Given the description of an element on the screen output the (x, y) to click on. 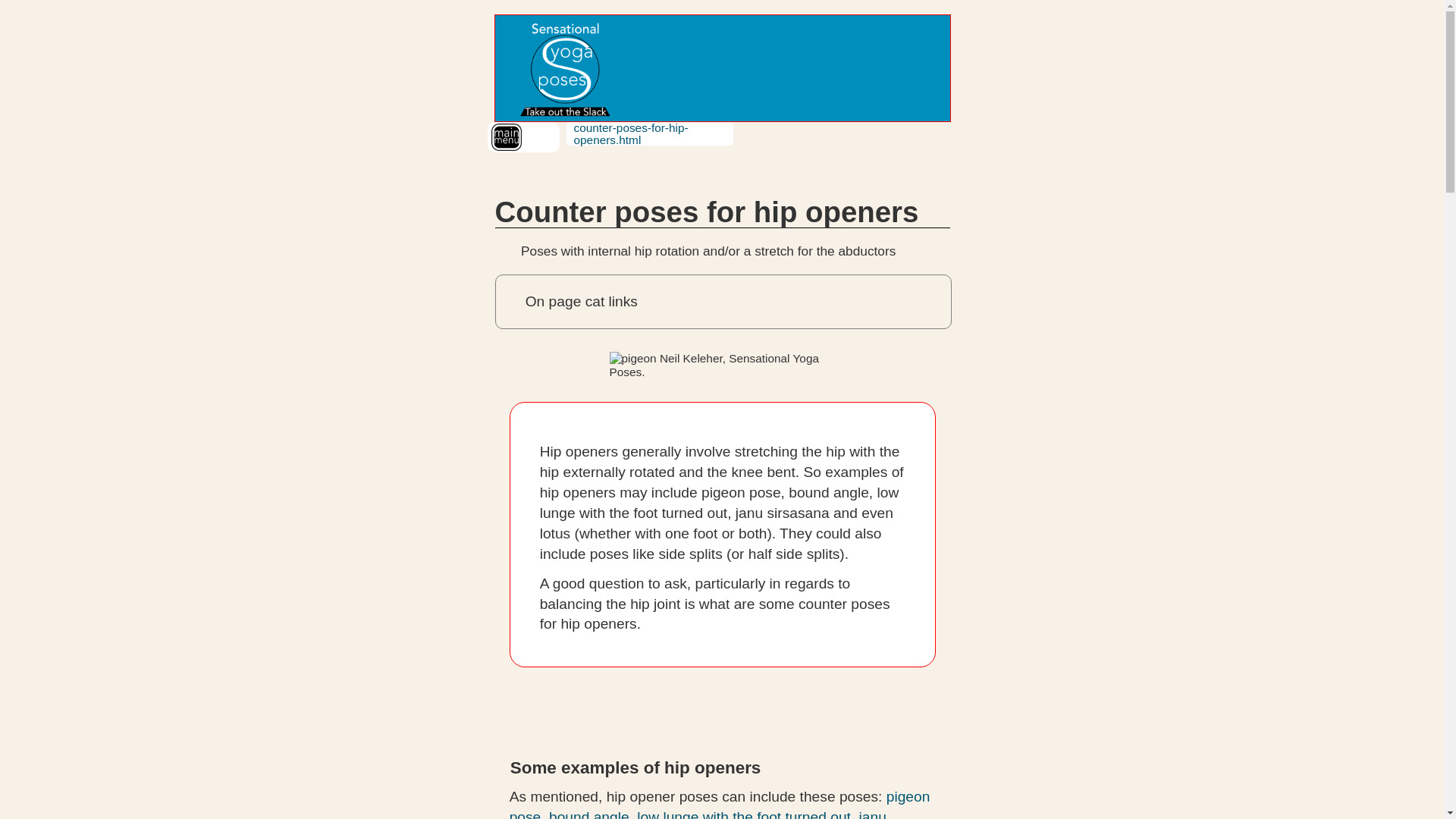
bound angle (588, 814)
Home (562, 68)
main menu (506, 137)
low lunge with the foot turned out (743, 814)
pigeon pose (719, 803)
counter-poses-for-hip-openers.html (630, 133)
pigeon (722, 365)
janu sirsasana (697, 814)
